Given the description of an element on the screen output the (x, y) to click on. 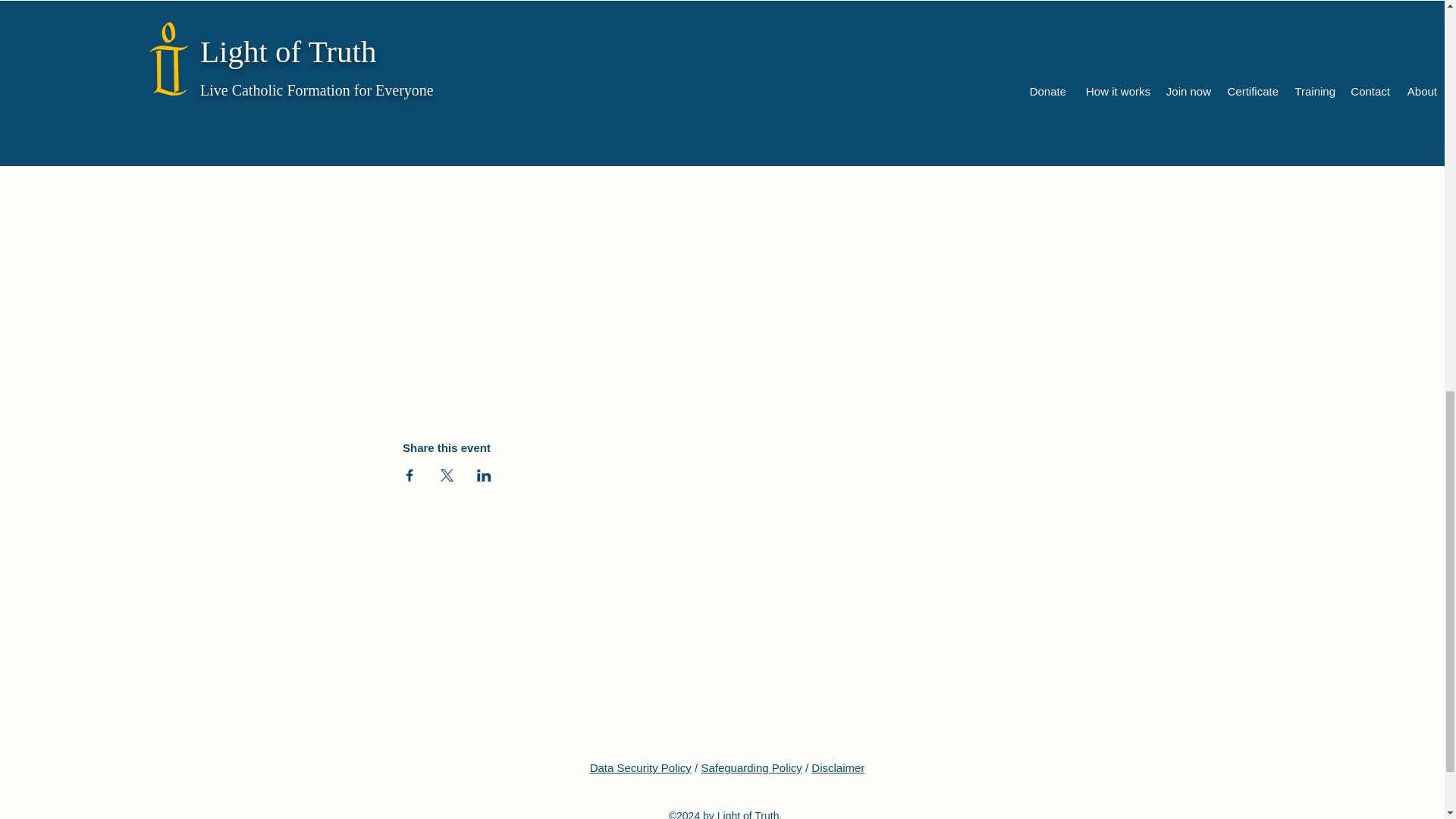
Data Security Policy (640, 767)
Safeguarding Policy (751, 767)
Disclaimer (837, 767)
